Given the description of an element on the screen output the (x, y) to click on. 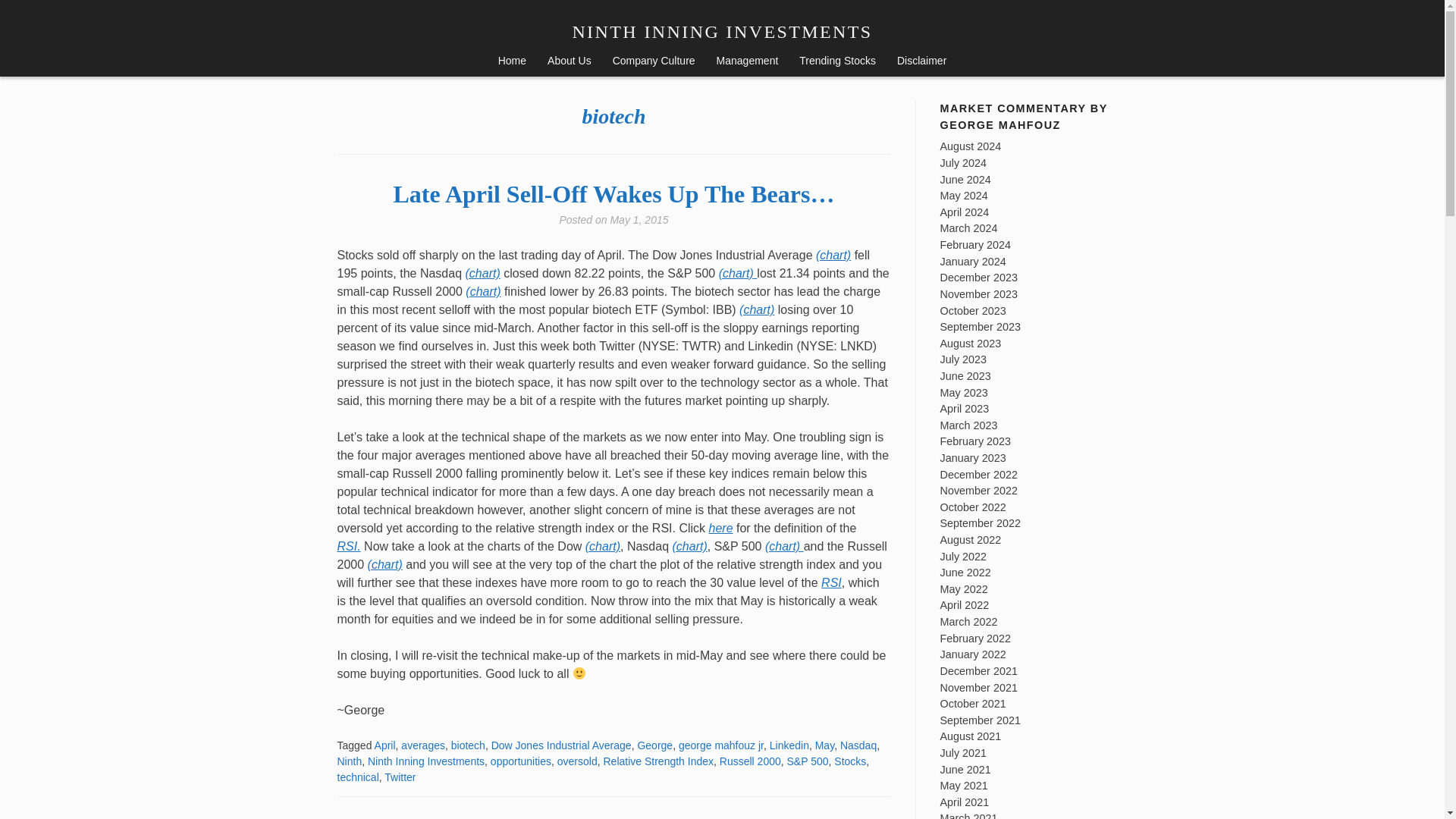
RSI. (347, 545)
Russell 2000 (749, 761)
averages (423, 745)
RSI (831, 582)
george mahfouz jr (720, 745)
Company Culture (654, 61)
Management (747, 61)
NINTH INNING INVESTMENTS (722, 31)
oversold (576, 761)
Trending Stocks (837, 61)
